Given the description of an element on the screen output the (x, y) to click on. 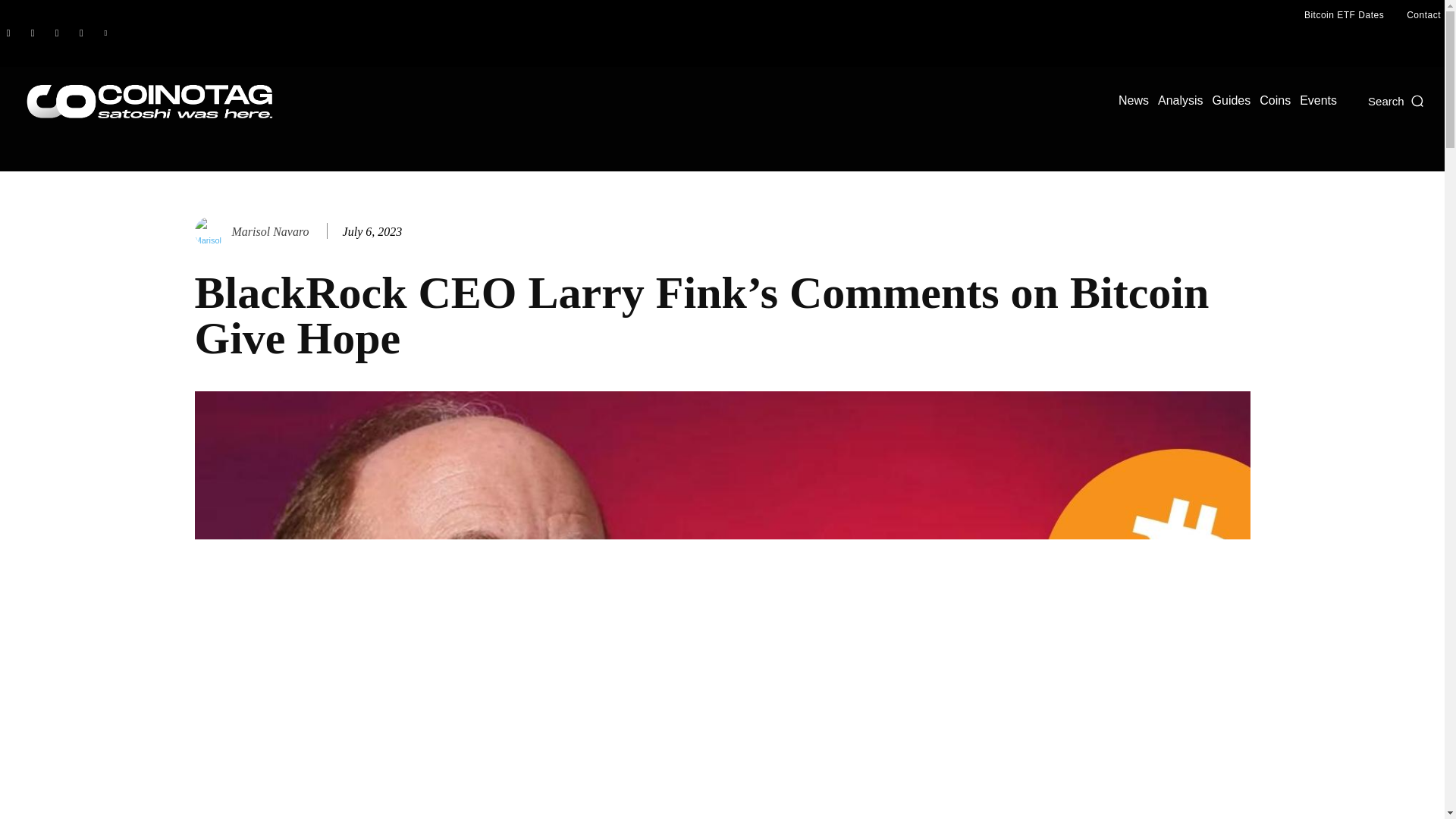
Marisol Navaro (269, 231)
Telegram (80, 33)
Marisol Navaro (210, 232)
RSS (56, 33)
Bitcoin ETF Dates (1343, 15)
Search (1397, 99)
Facebook (8, 33)
Instagram (32, 33)
Twitter (105, 33)
